Given the description of an element on the screen output the (x, y) to click on. 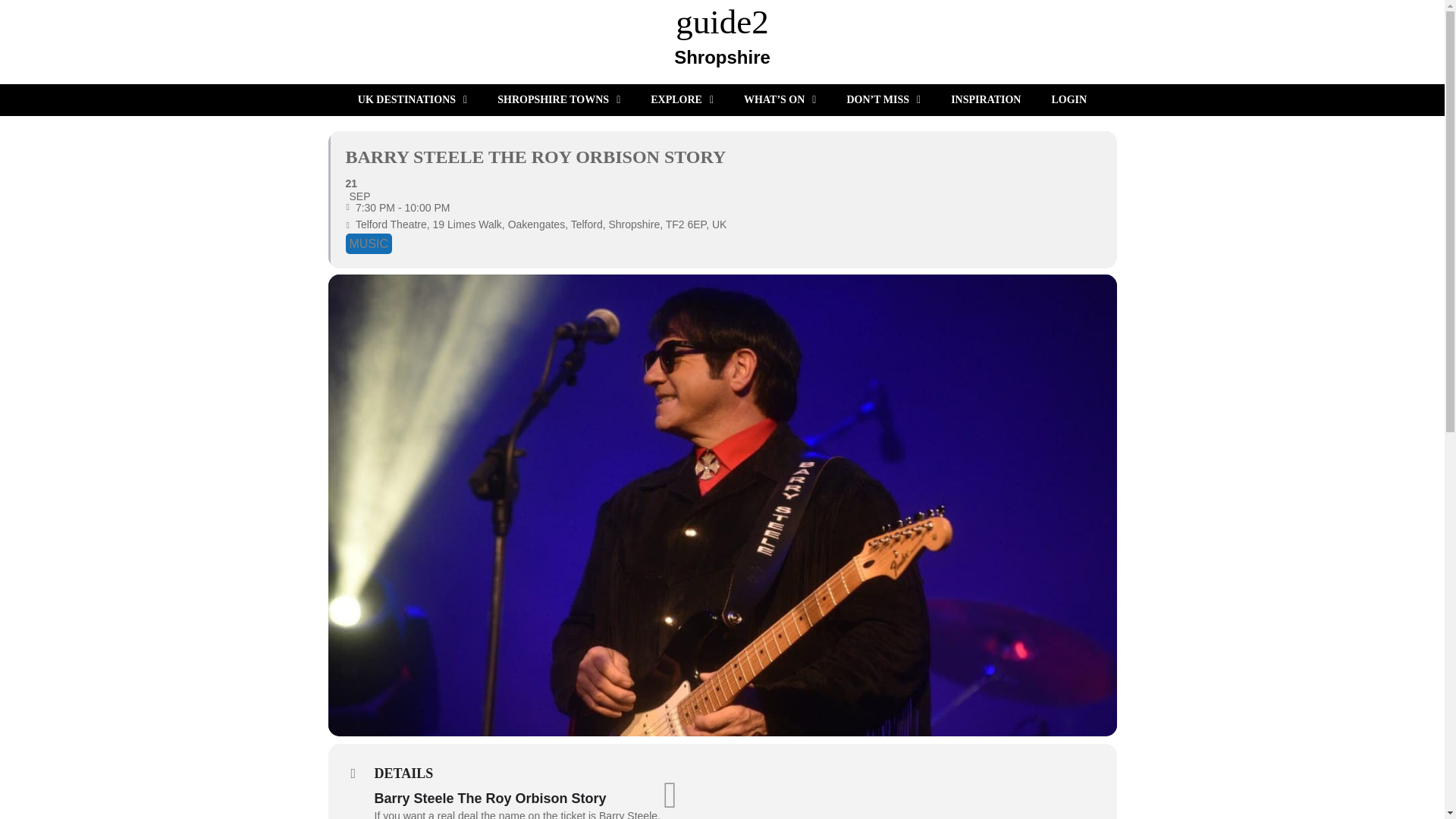
UK DESTINATIONS (411, 100)
Jump To Top (670, 795)
SHROPSHIRE TOWNS (557, 100)
EXPLORE (722, 59)
